Given the description of an element on the screen output the (x, y) to click on. 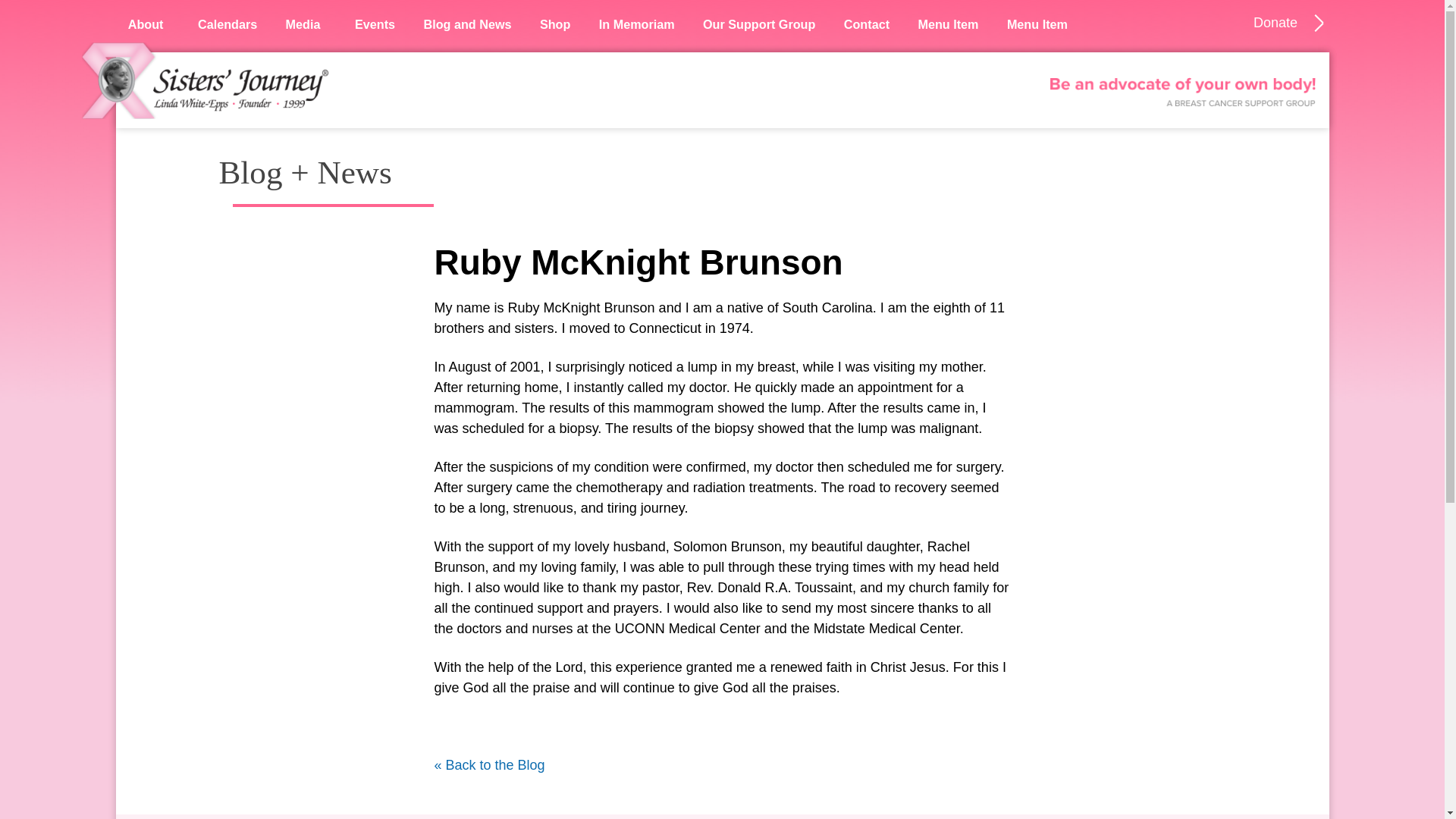
Blog and News (466, 23)
Contact (866, 23)
About (147, 23)
Menu Item (947, 23)
Events (374, 23)
Shop (555, 23)
Donate (1275, 22)
Media (305, 23)
Our Support Group (759, 23)
Calendars (227, 23)
